Given the description of an element on the screen output the (x, y) to click on. 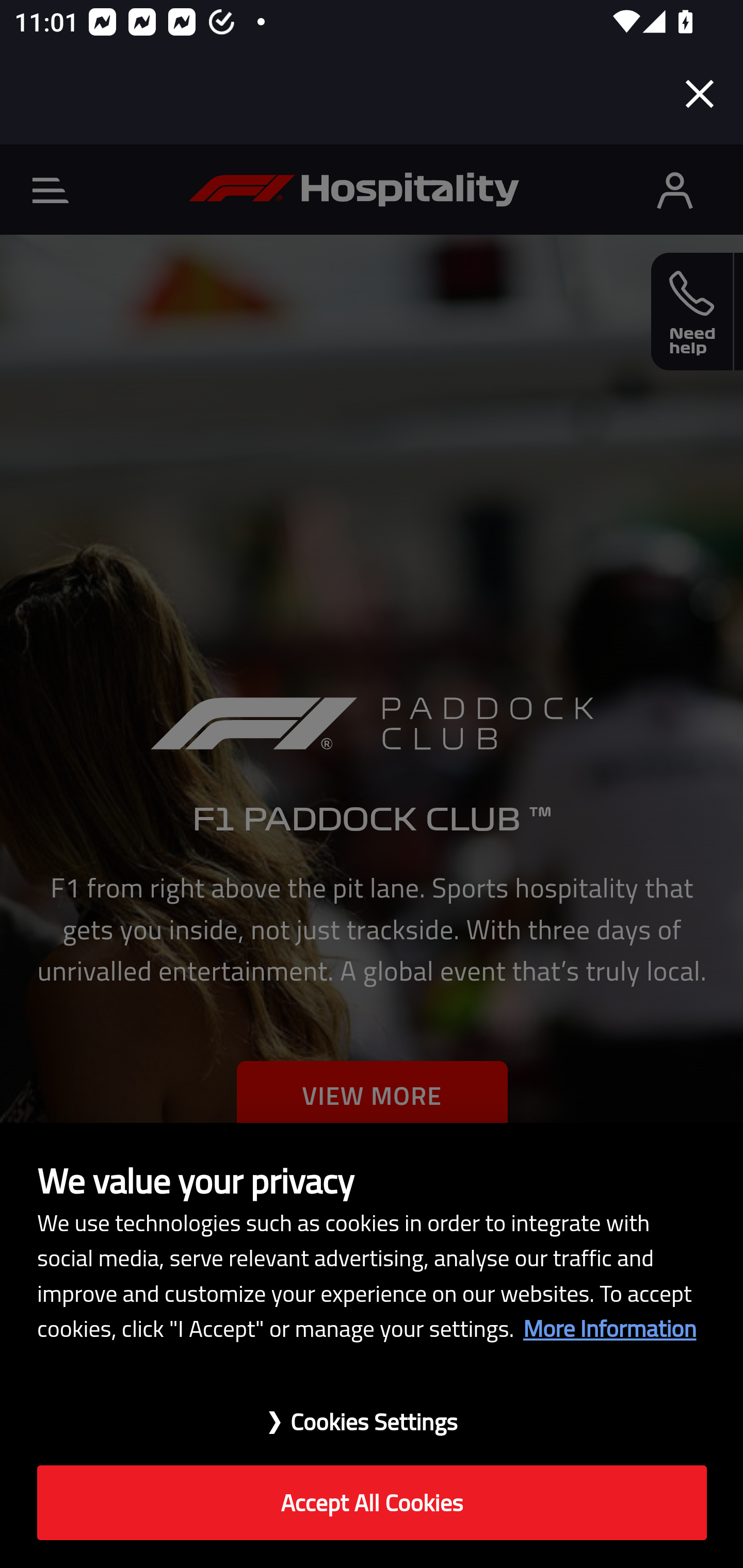
Close (699, 93)
Toggle Menu (51, 190)
 (674, 188)
Formula 1 (353, 188)
phone Need help (692, 311)
More Information (608, 1327)
❯Cookies Settings (372, 1411)
Accept All Cookies (372, 1502)
